Given the description of an element on the screen output the (x, y) to click on. 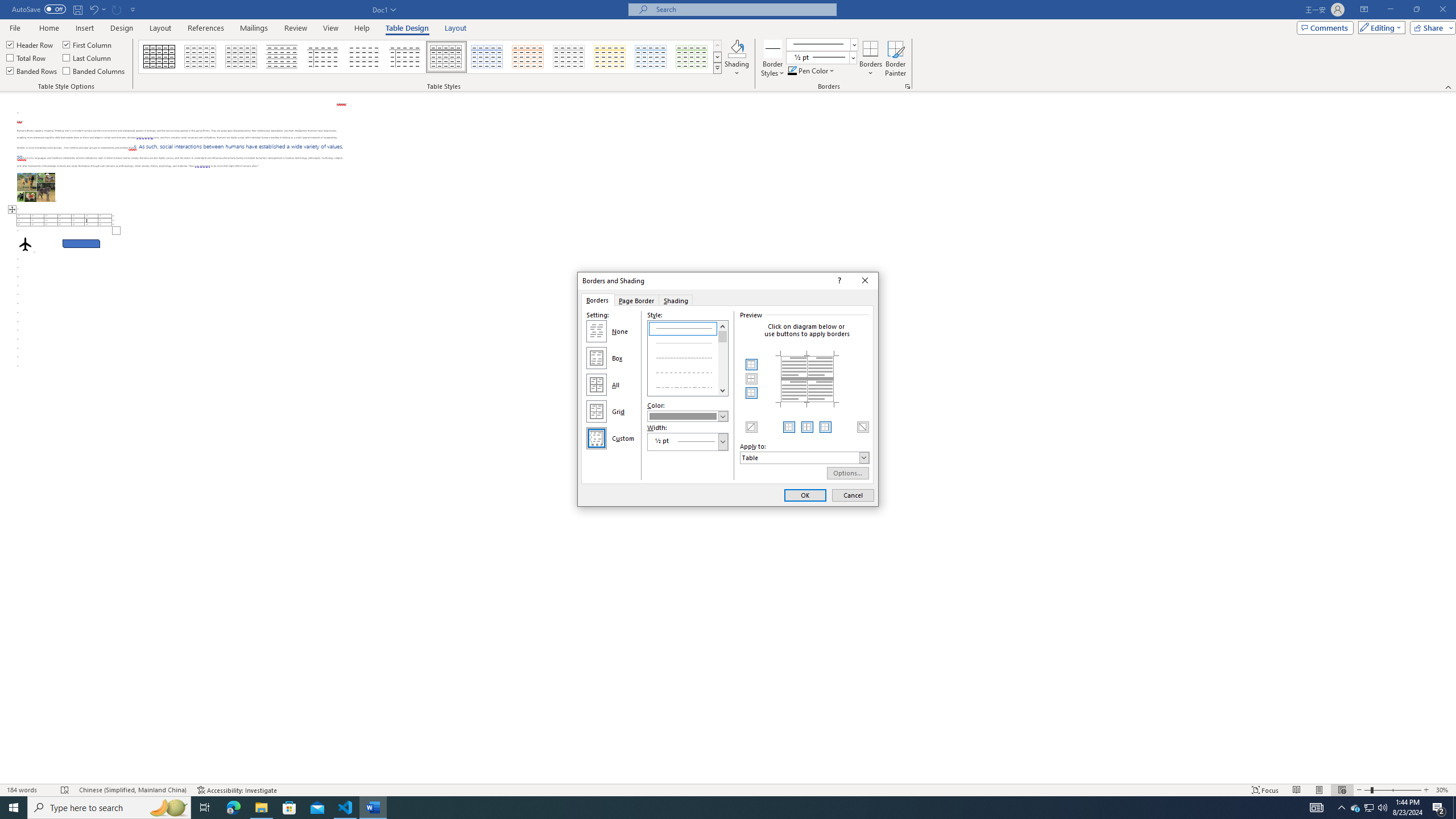
Shading (676, 299)
Morphological variation in six dogs (36, 187)
References (205, 28)
Page Border (635, 299)
Borders (870, 58)
Read Mode (1296, 790)
Save (77, 9)
Type here to search (108, 807)
